Given the description of an element on the screen output the (x, y) to click on. 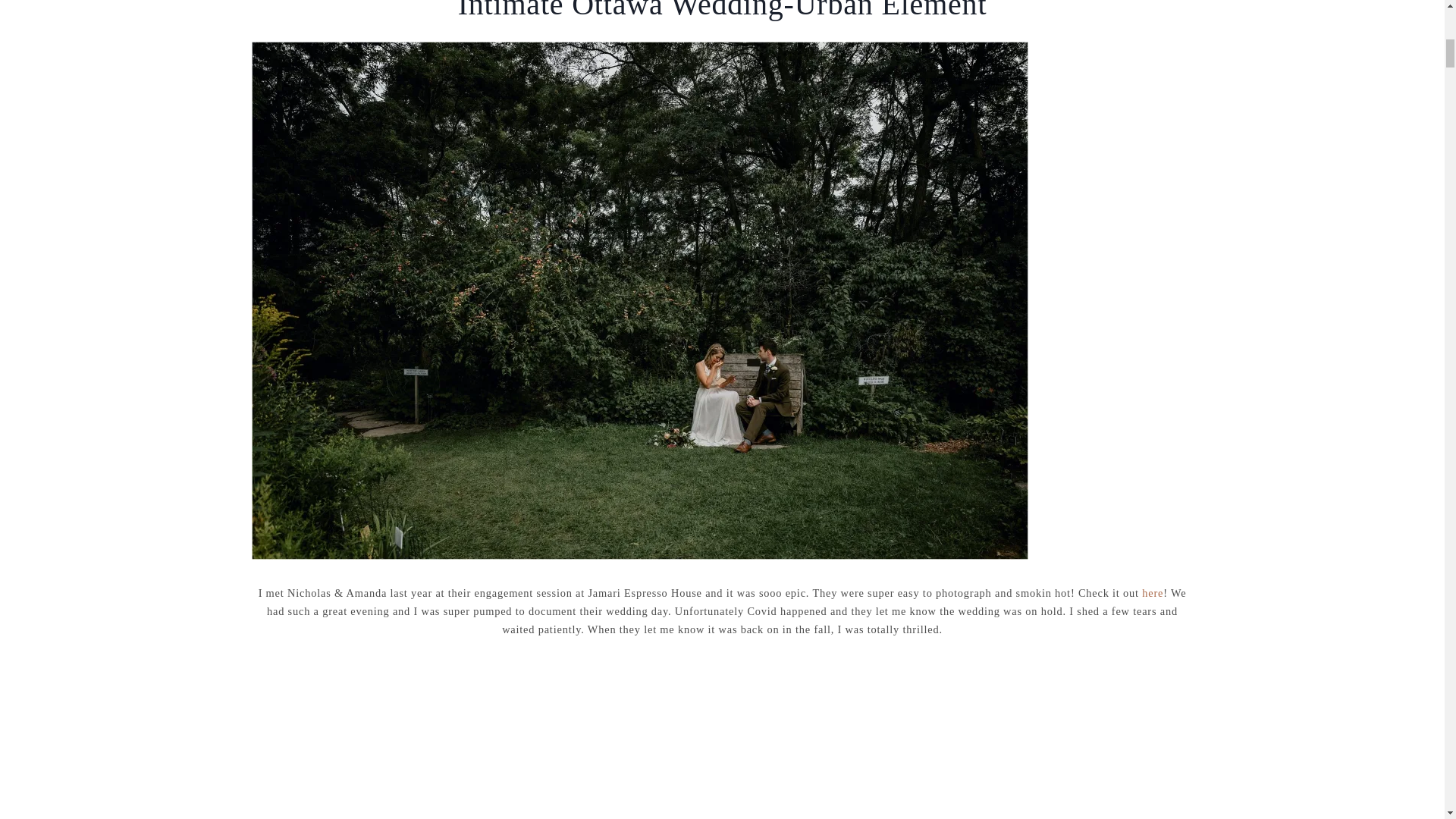
here (1152, 592)
